Given the description of an element on the screen output the (x, y) to click on. 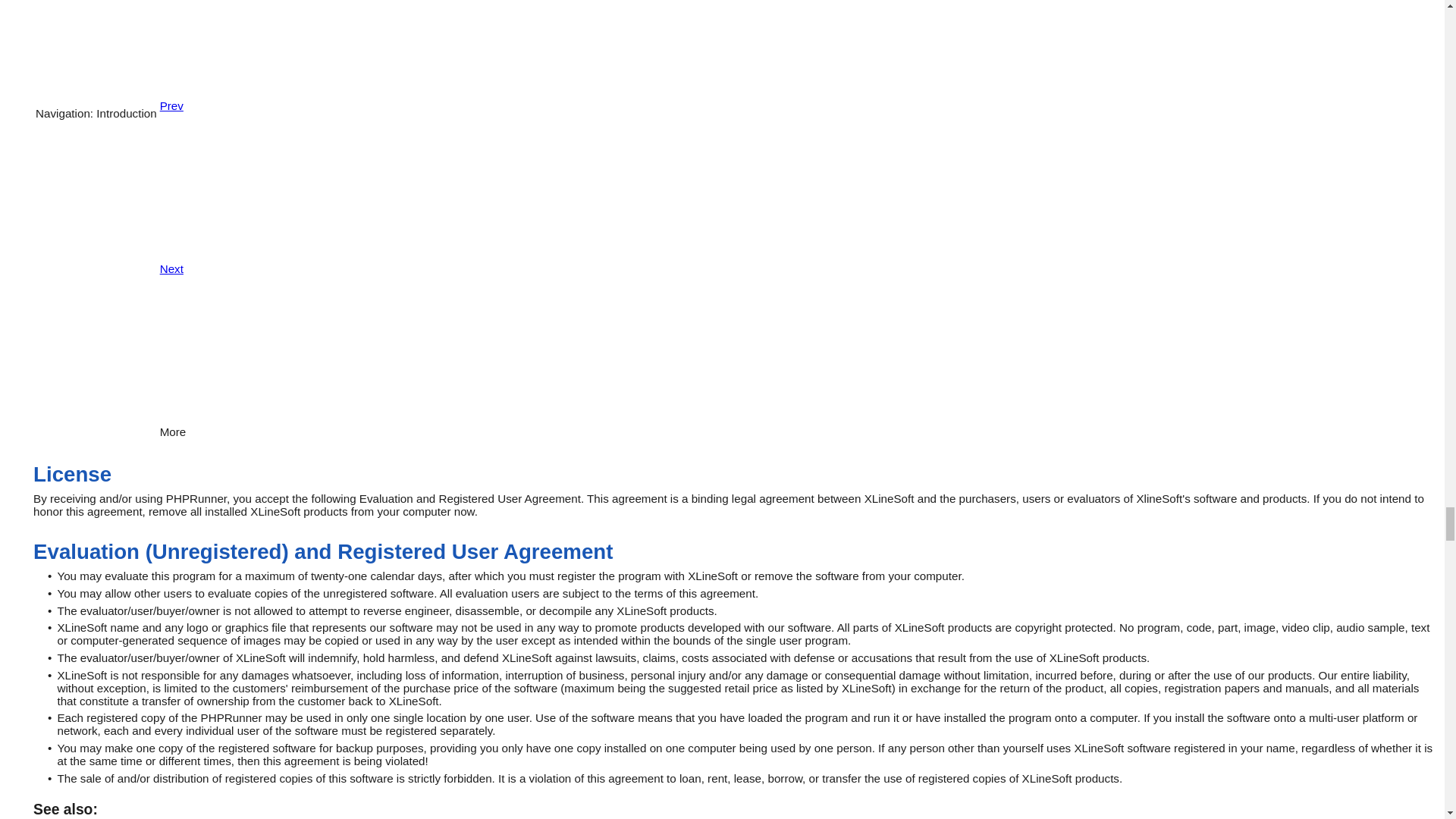
Go to previous topic (222, 99)
Additional Functions Menu (222, 425)
Go to next topic (222, 262)
Prev (222, 99)
Next (222, 262)
More (222, 425)
